Given the description of an element on the screen output the (x, y) to click on. 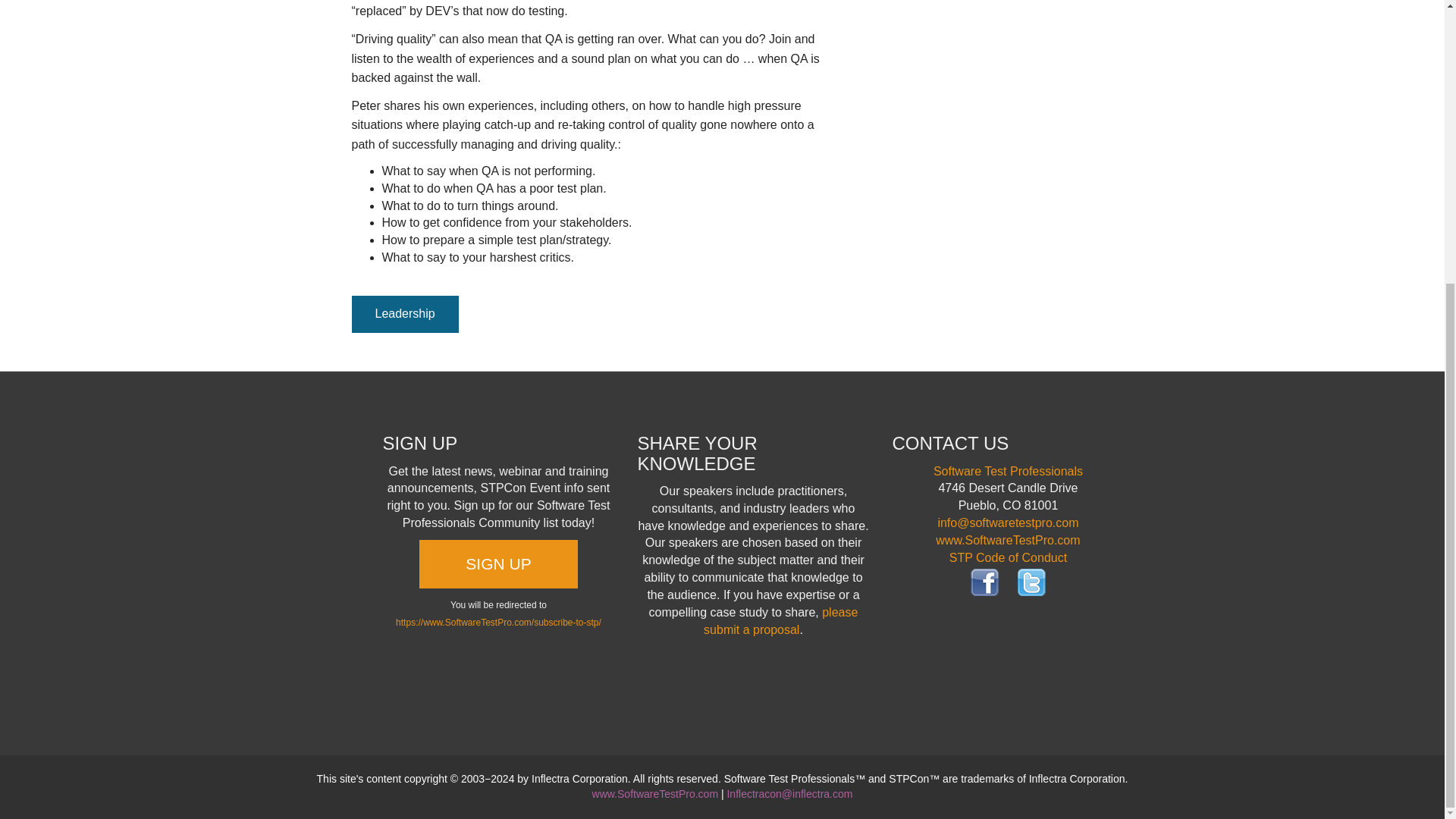
Software Test Professionals (1008, 471)
Leadership (405, 313)
www.SoftwareTestPro.com (655, 793)
STP Code of Conduct (1008, 557)
SIGN UP (497, 563)
please submit a proposal (780, 621)
www.SoftwareTestPro.com (1008, 540)
